Given the description of an element on the screen output the (x, y) to click on. 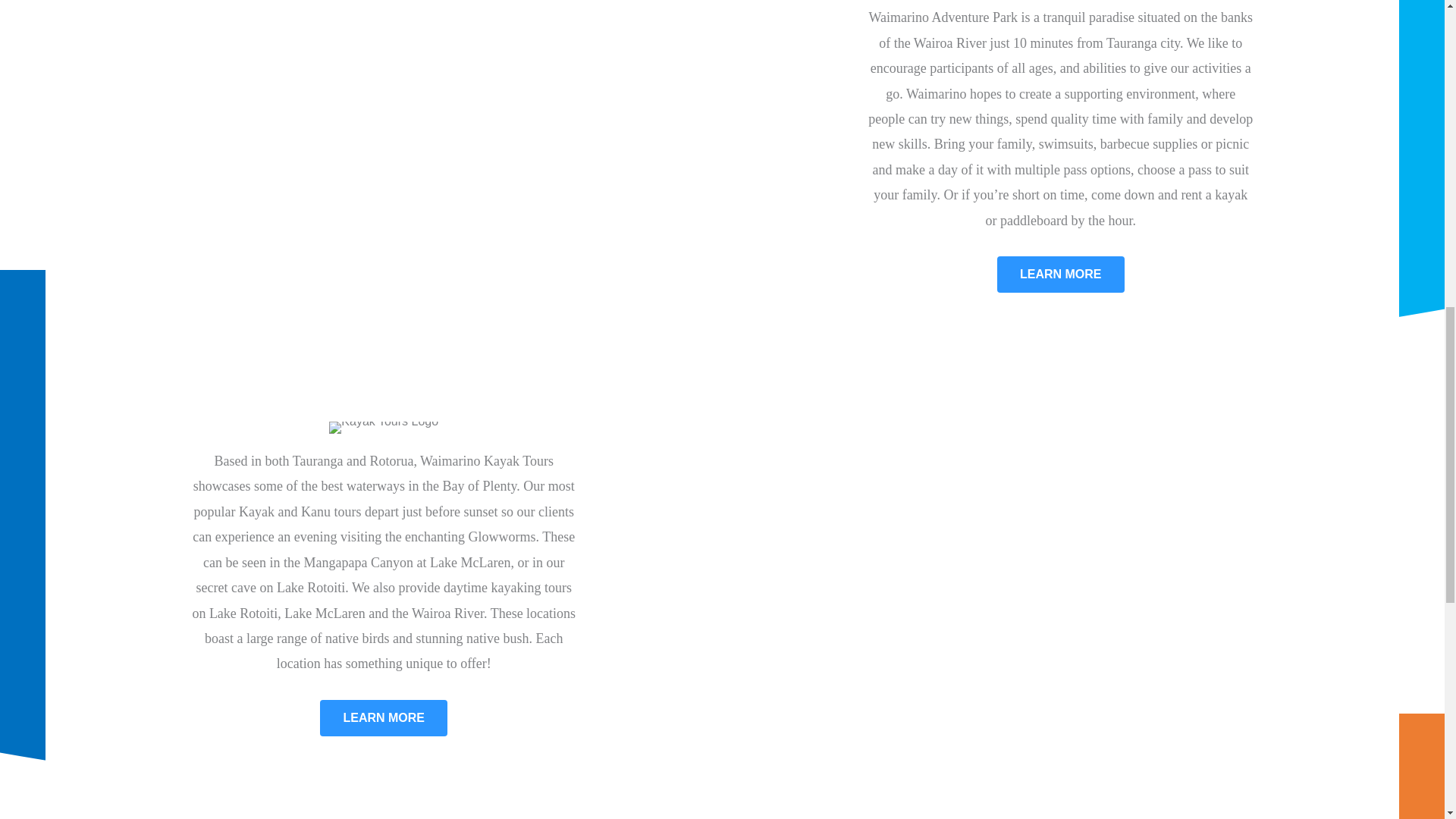
Kayak Tours Logo (383, 427)
Click Here (1060, 274)
LEARN MORE (383, 718)
LEARN MORE (1060, 274)
Click Here (383, 718)
